Given the description of an element on the screen output the (x, y) to click on. 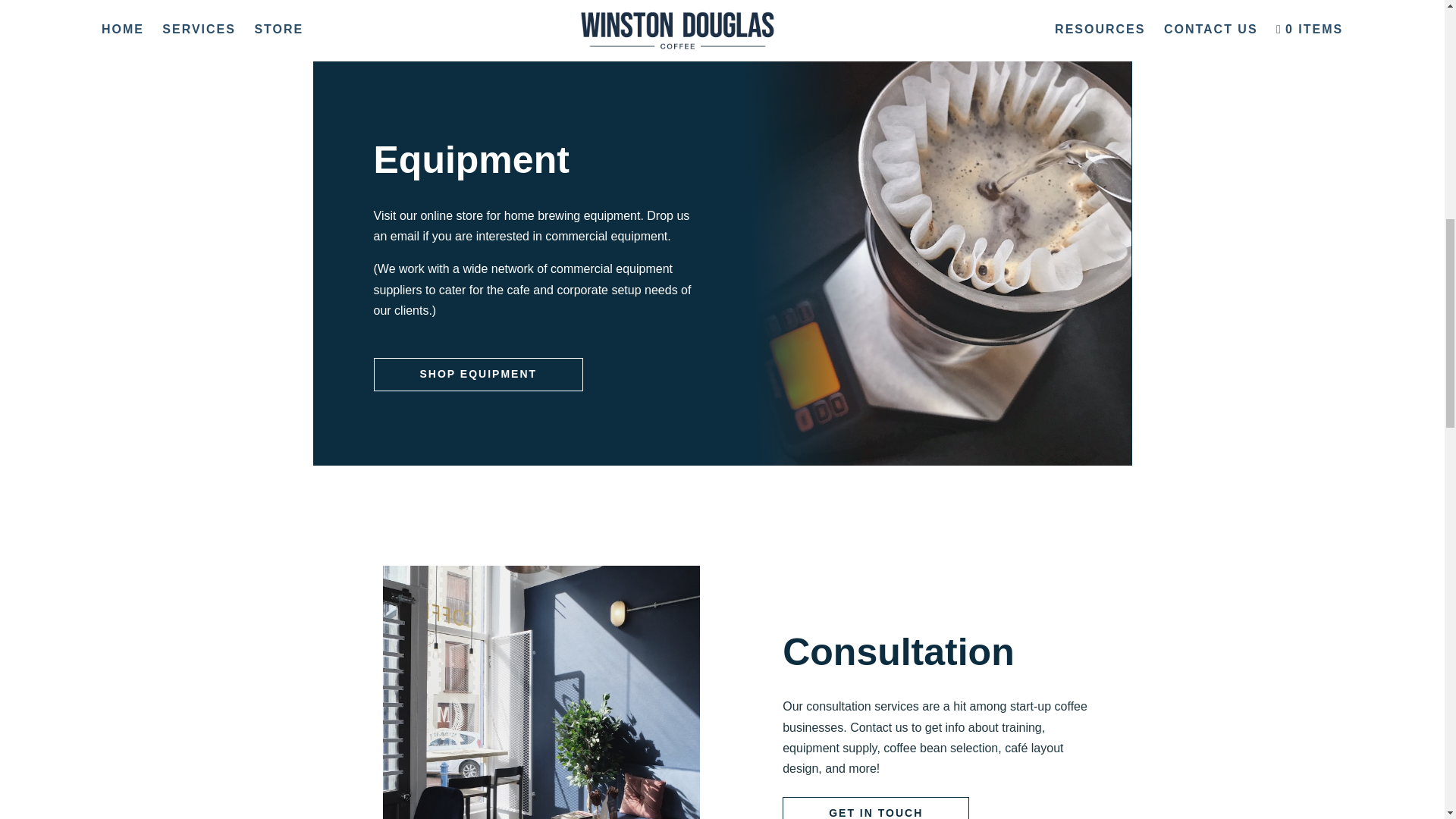
GET IN TOUCH (876, 807)
SHOP EQUIPMENT (477, 449)
SHOP EQUIPMENT (477, 374)
